Given the description of an element on the screen output the (x, y) to click on. 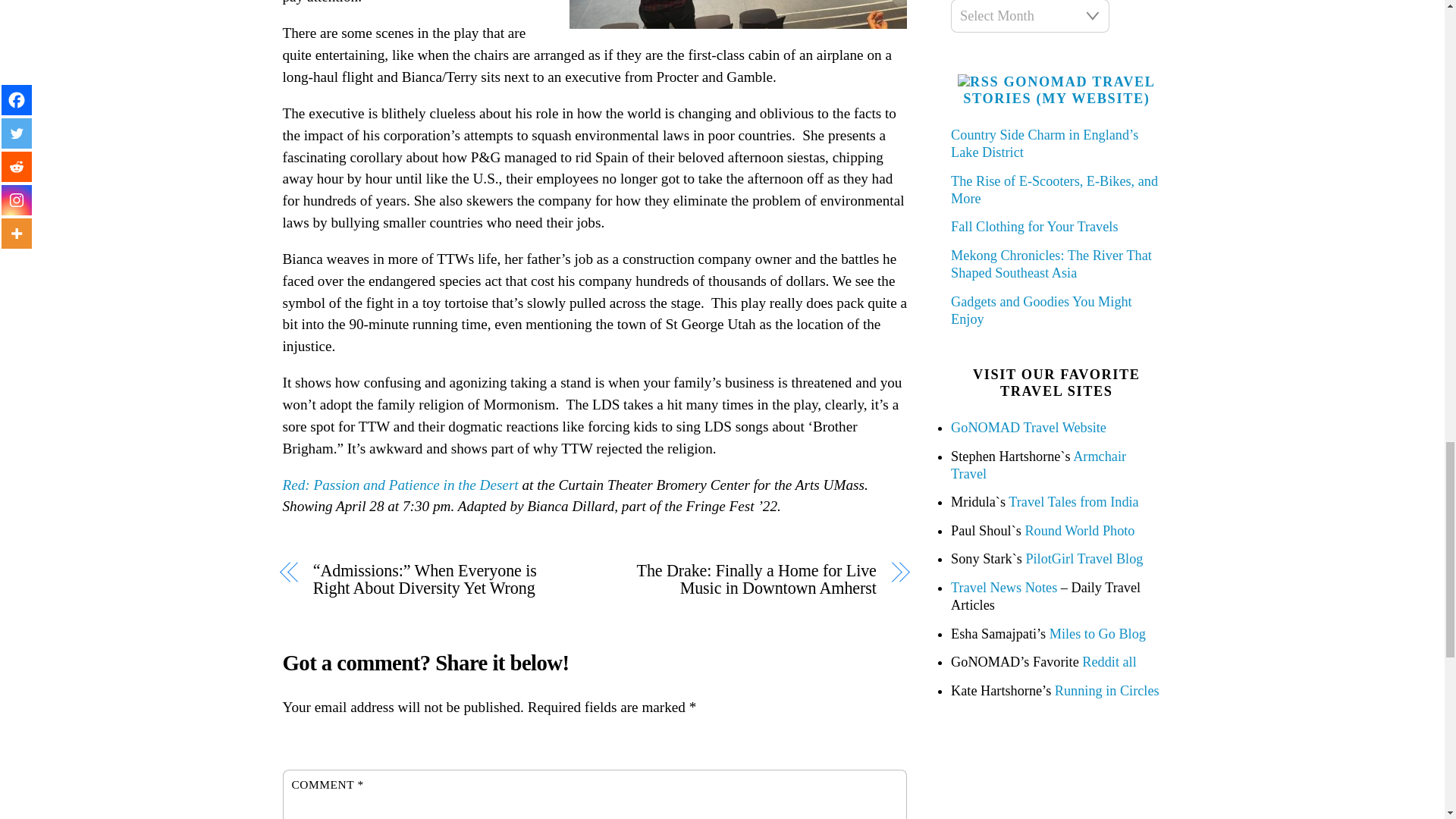
Red: Passion and Patience in the Desert (400, 484)
The Drake: Finally a Home for Live Music in Downtown Amherst (744, 579)
